Given the description of an element on the screen output the (x, y) to click on. 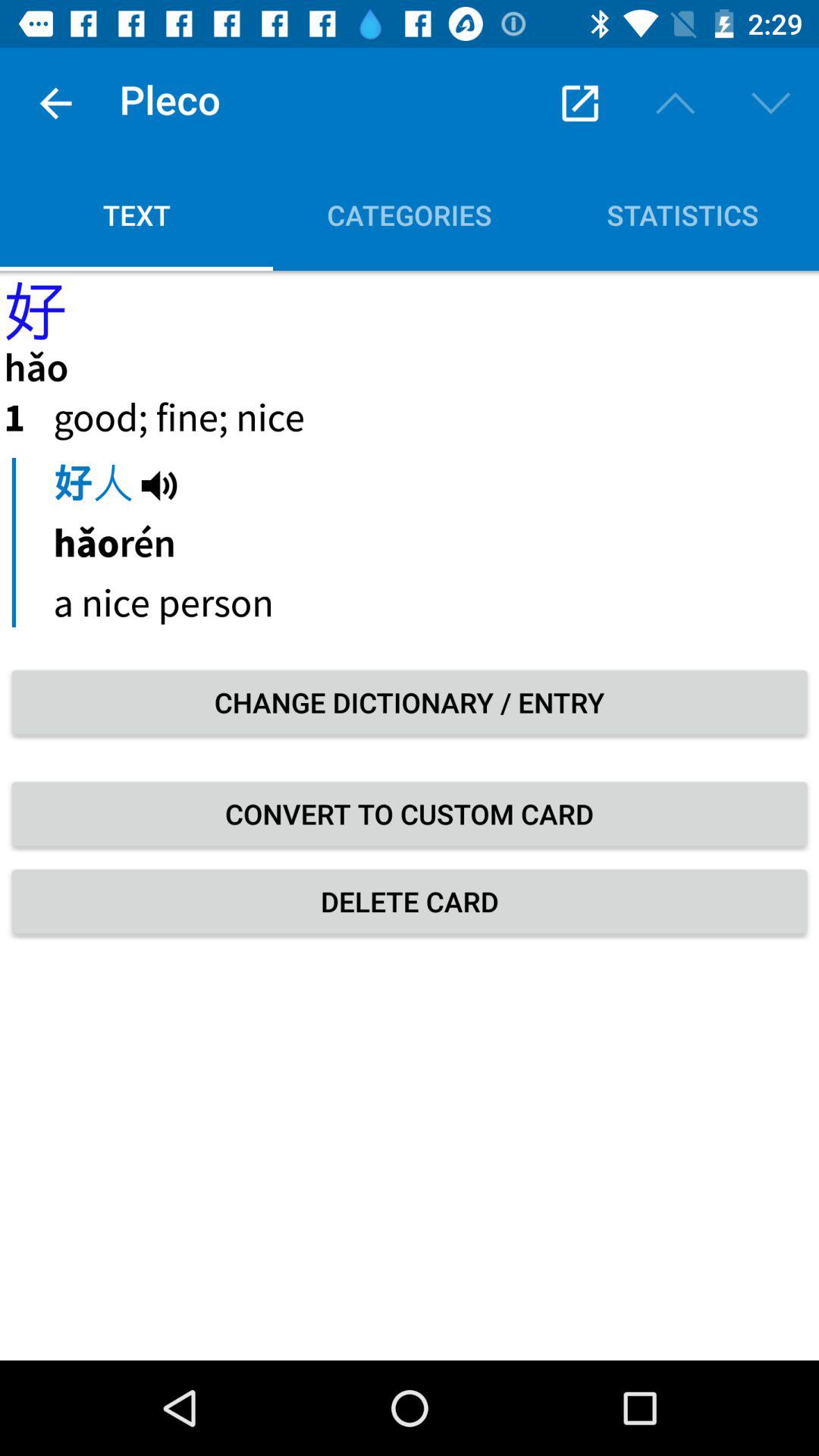
launch icon above the convert to custom icon (409, 702)
